Given the description of an element on the screen output the (x, y) to click on. 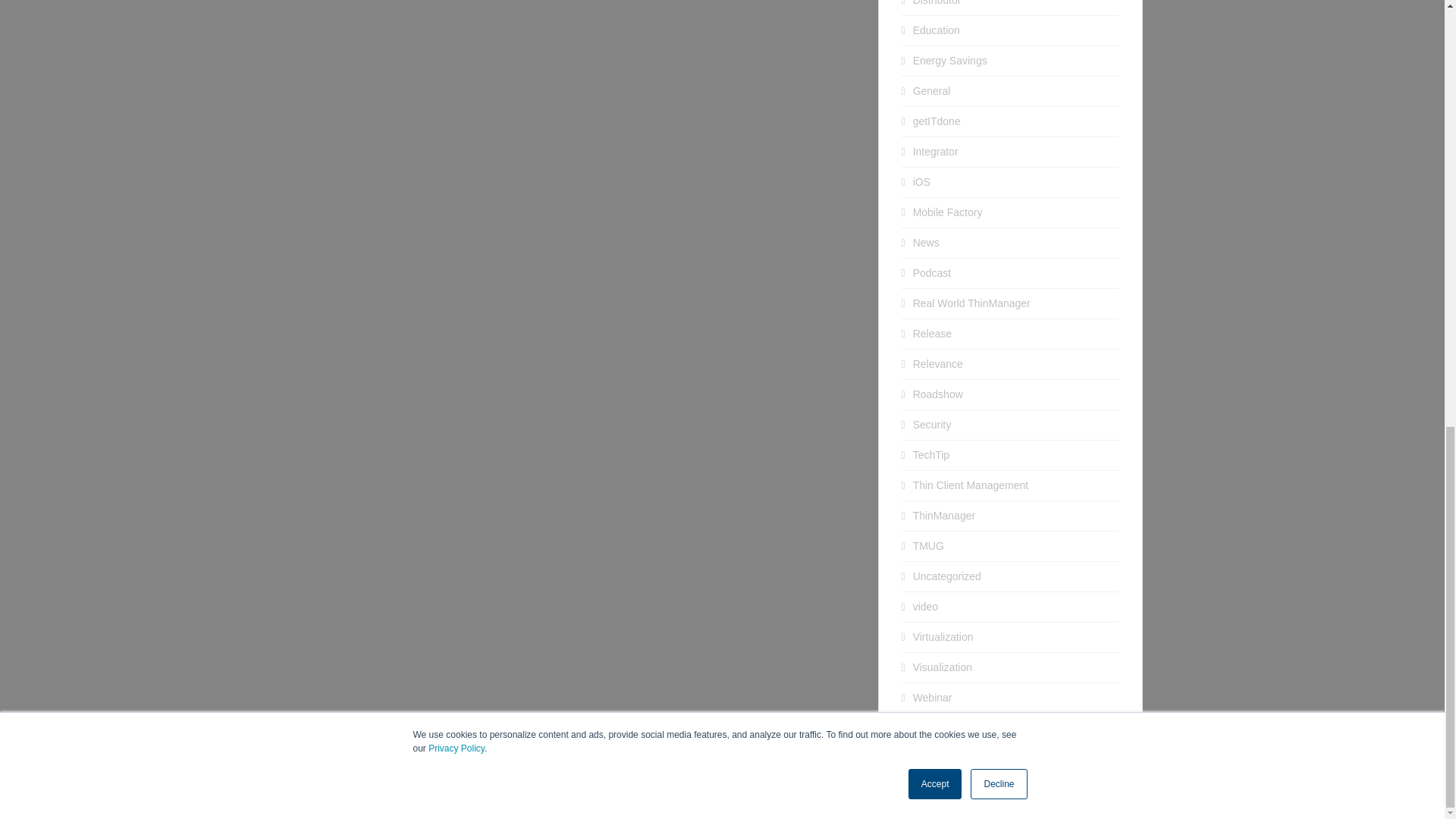
General (931, 91)
Distributor (936, 2)
Energy Savings (949, 60)
Education (935, 30)
Thin Client Technology Blog (834, 802)
